Given the description of an element on the screen output the (x, y) to click on. 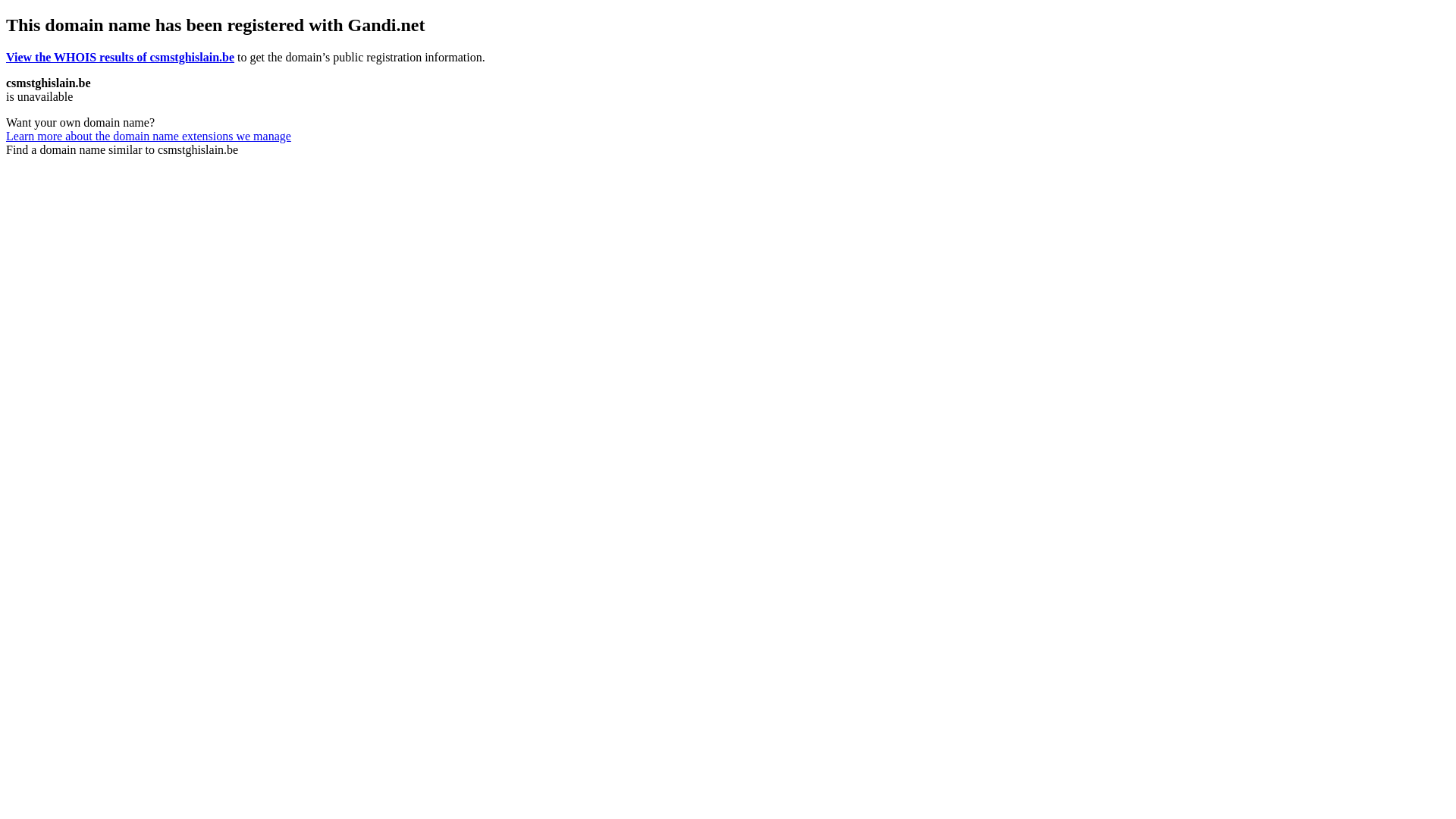
View the WHOIS results of csmstghislain.be Element type: text (120, 56)
Find a domain name similar to csmstghislain.be Element type: text (122, 149)
Learn more about the domain name extensions we manage Element type: text (148, 135)
